Given the description of an element on the screen output the (x, y) to click on. 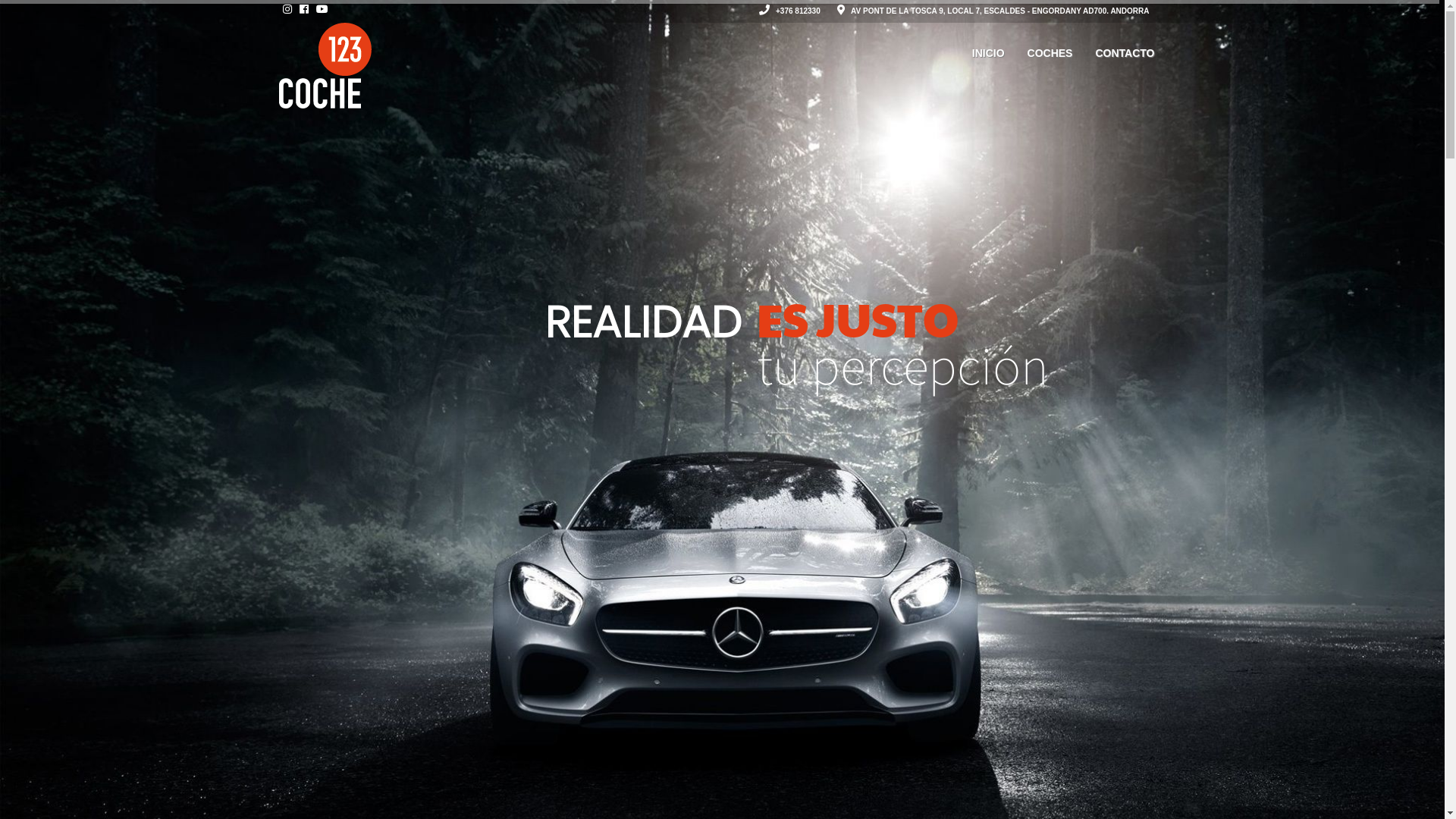
INICIO Element type: text (988, 53)
+376 812330 Element type: text (789, 10)
CONTACTO Element type: text (1124, 53)
COCHES Element type: text (1050, 53)
